Given the description of an element on the screen output the (x, y) to click on. 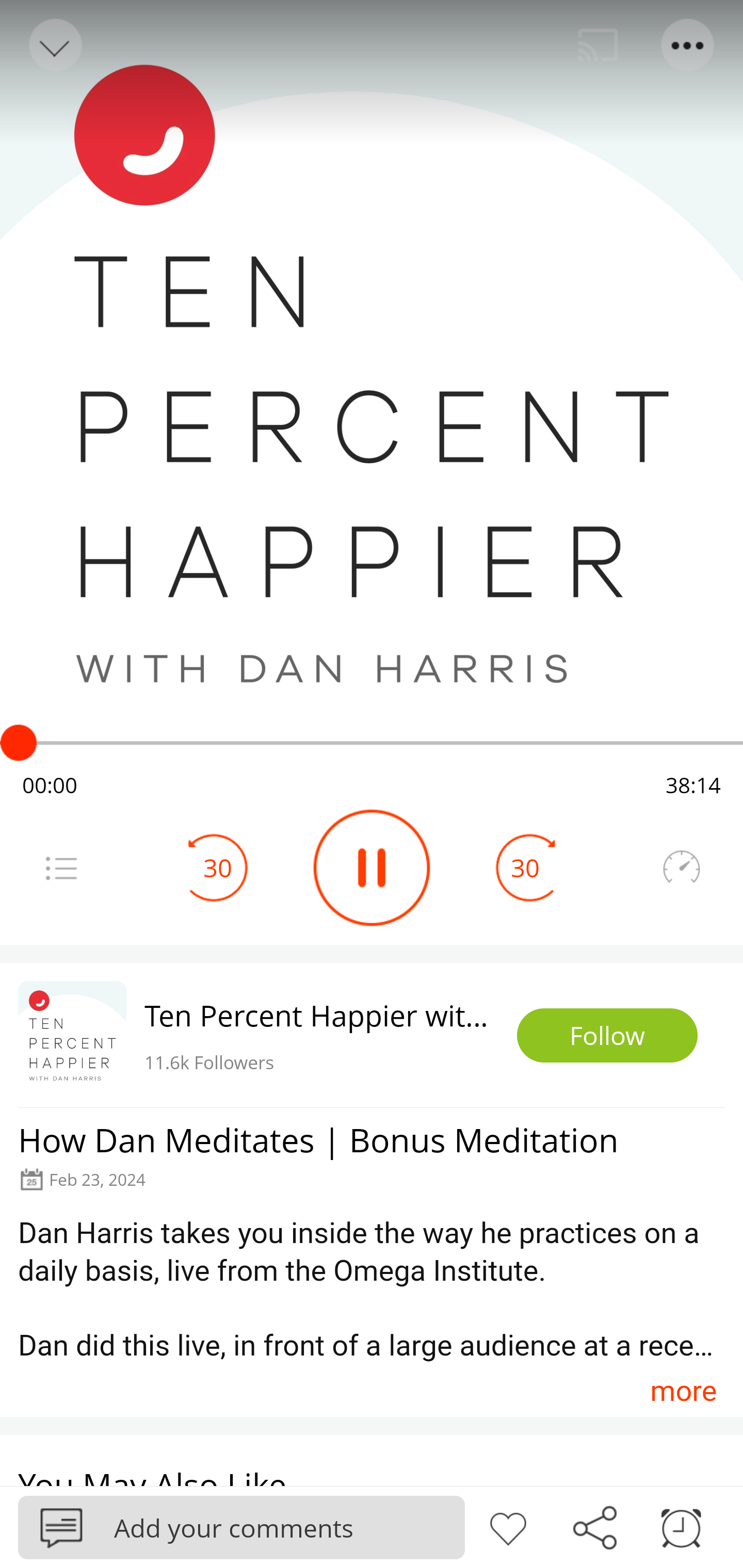
Back (53, 45)
Cast. Disconnected (597, 45)
Menu (688, 45)
Play (371, 867)
30 Seek Backward (217, 867)
30 Seek Forward (525, 867)
Menu (60, 867)
Speedometer (681, 867)
Follow (607, 1035)
more (682, 1390)
Like (508, 1526)
Share (594, 1526)
Sleep timer (681, 1526)
Podbean Add your comments (241, 1526)
